Given the description of an element on the screen output the (x, y) to click on. 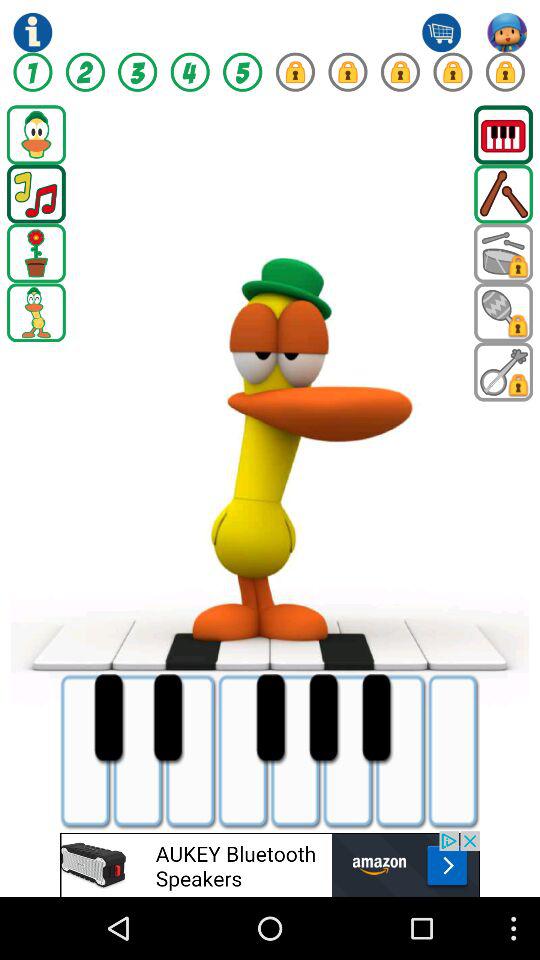
lock button (400, 71)
